Given the description of an element on the screen output the (x, y) to click on. 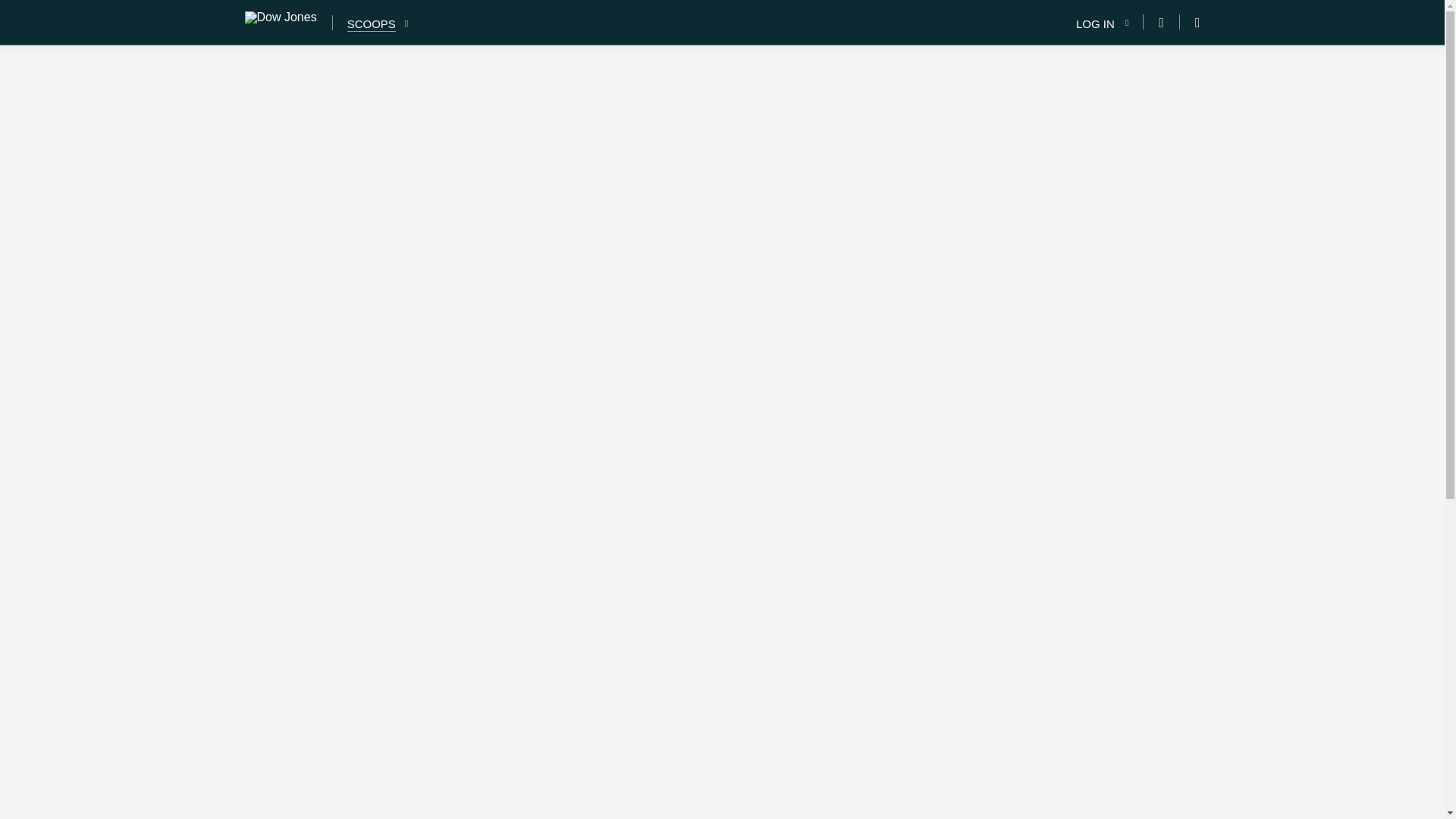
SCOOPS (371, 23)
Go to homepage       (287, 22)
Scoops       (371, 23)
LOG IN (1099, 22)
